Given the description of an element on the screen output the (x, y) to click on. 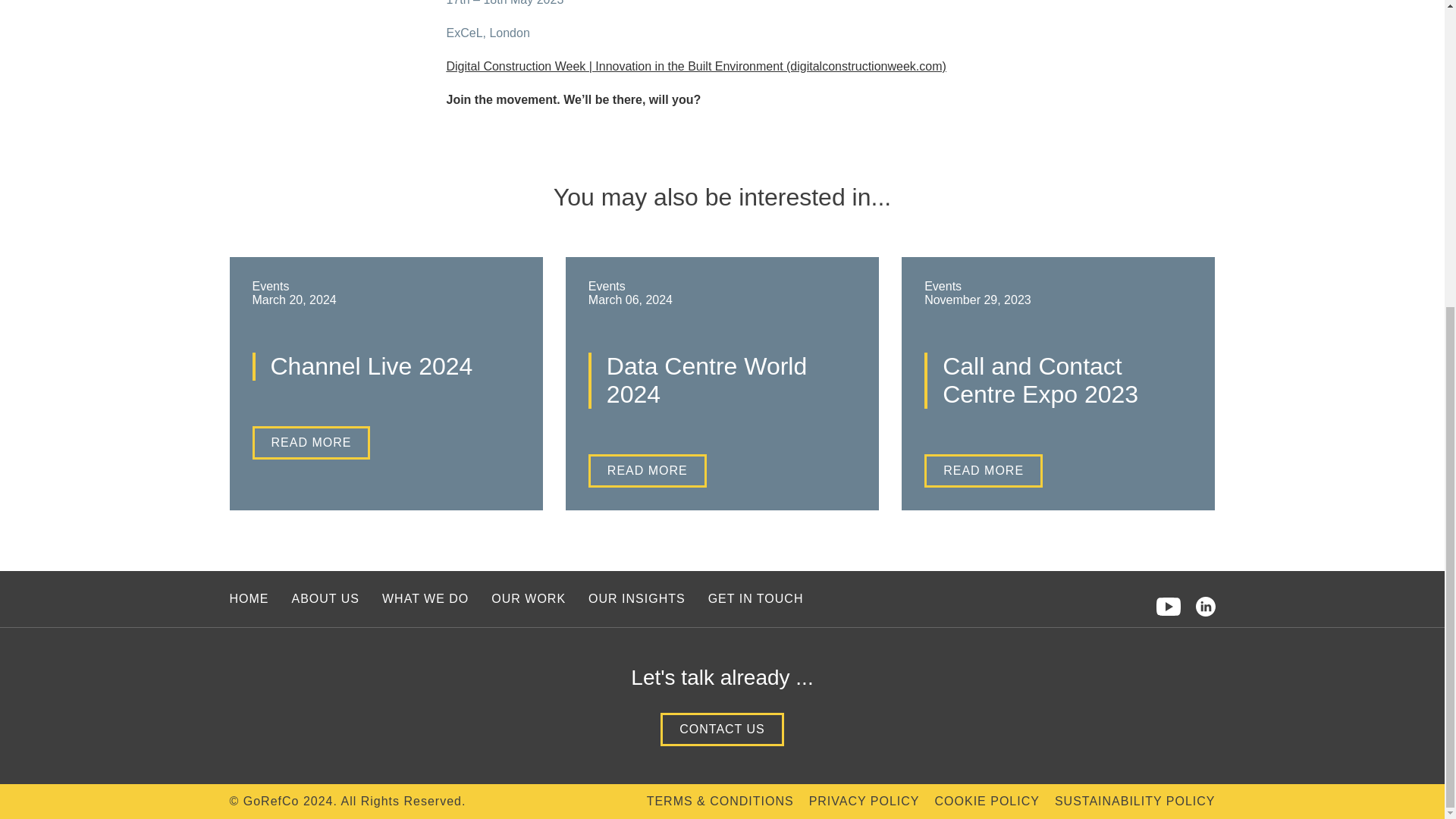
GET IN TOUCH (755, 598)
COOKIE POLICY (986, 800)
READ MORE (647, 470)
OUR WORK (529, 598)
CONTACT US (722, 729)
READ MORE (310, 442)
ABOUT US (325, 598)
READ MORE (983, 470)
HOME (247, 598)
OUR INSIGHTS (636, 598)
